Given the description of an element on the screen output the (x, y) to click on. 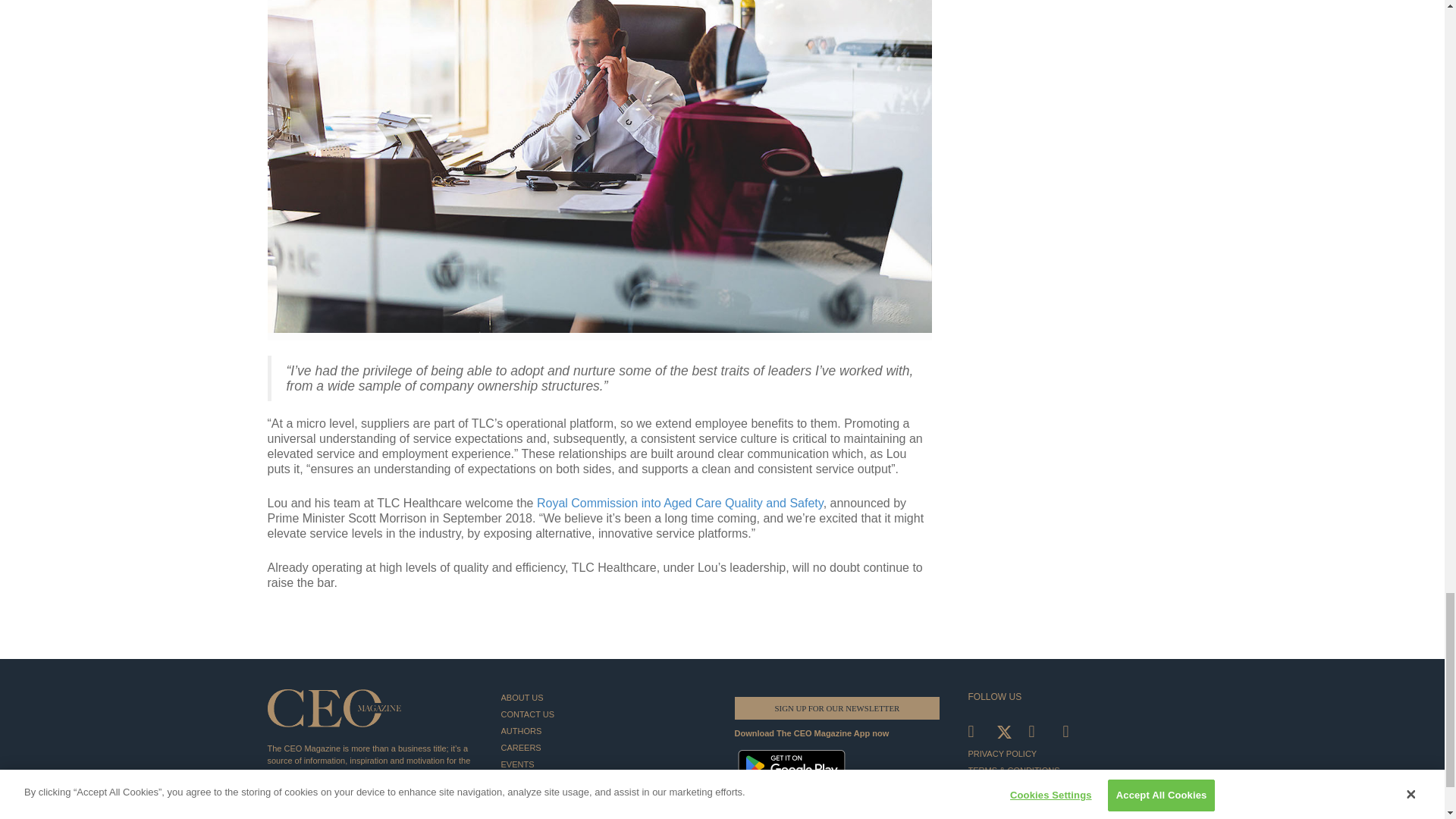
AUTHORS (605, 730)
Contact Us (605, 713)
PARTNERS (605, 812)
Royal Commission into Aged Care Quality and Safety (680, 502)
ABOUT US (605, 697)
Events (605, 764)
PRESS (605, 797)
Press (605, 797)
CONTACT US (605, 713)
About Us (605, 697)
EVENTS (605, 764)
Authors (605, 730)
FAQ (605, 781)
FAQ (605, 781)
Careers (605, 747)
